Given the description of an element on the screen output the (x, y) to click on. 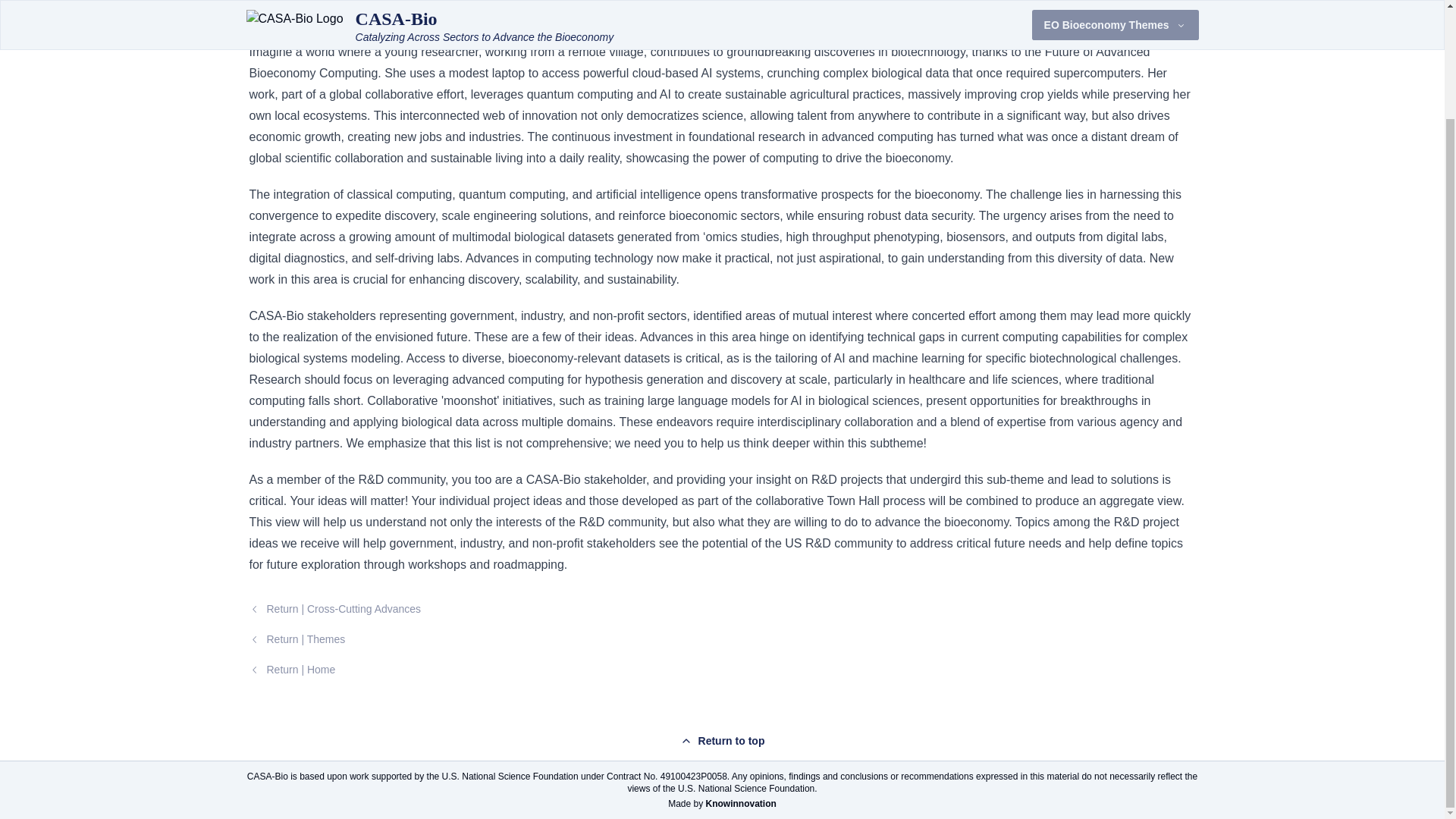
Made by Knowinnovation (722, 803)
Return to top (722, 740)
